Given the description of an element on the screen output the (x, y) to click on. 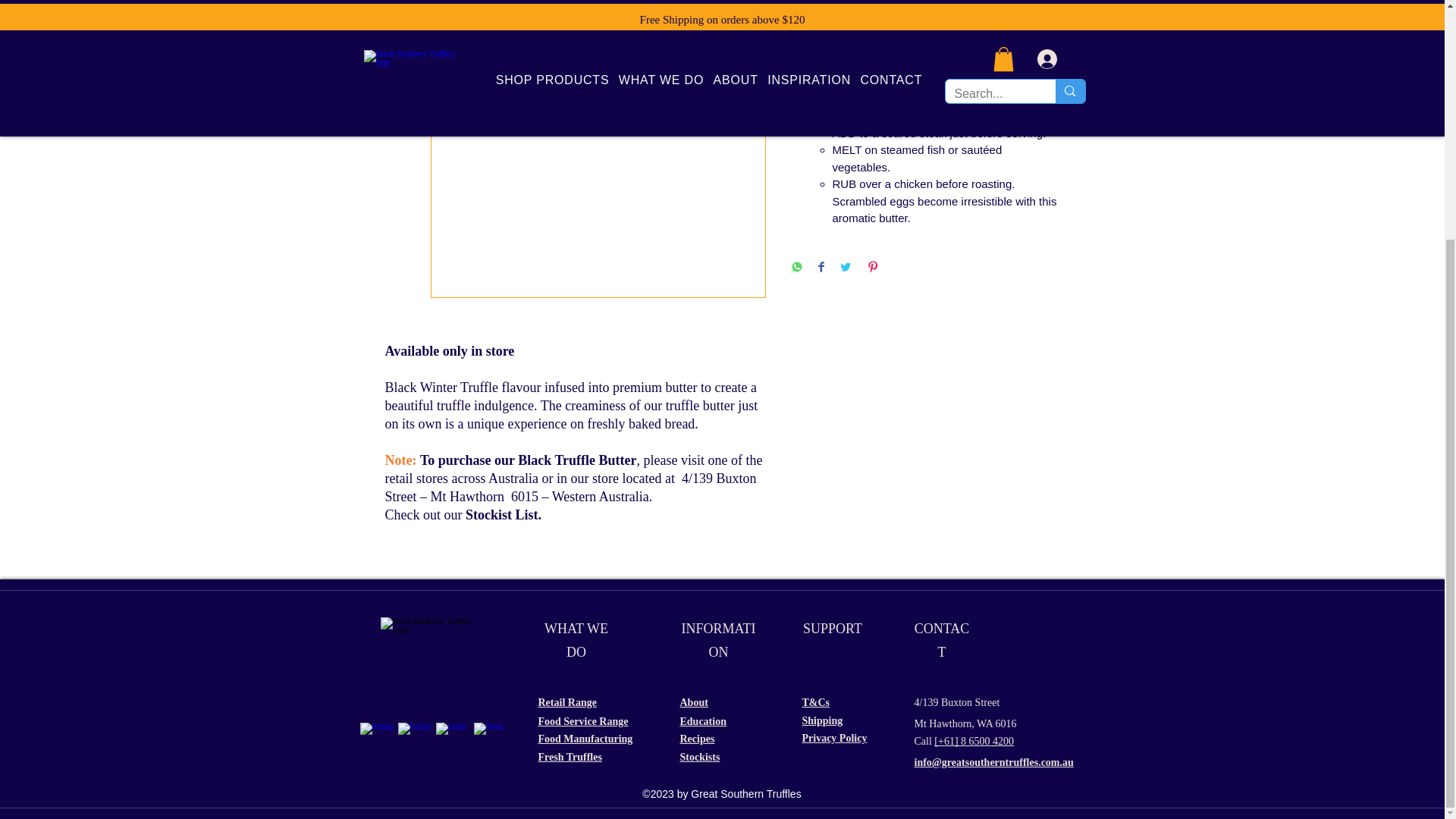
Fresh Truffles (570, 756)
Food Service Range (583, 721)
Education (702, 721)
Great for (924, 83)
Retail Range (567, 702)
Recipes (696, 738)
Stockists (699, 756)
About (693, 702)
Out of Stock (924, 19)
Food Manufacturing (585, 738)
